Given the description of an element on the screen output the (x, y) to click on. 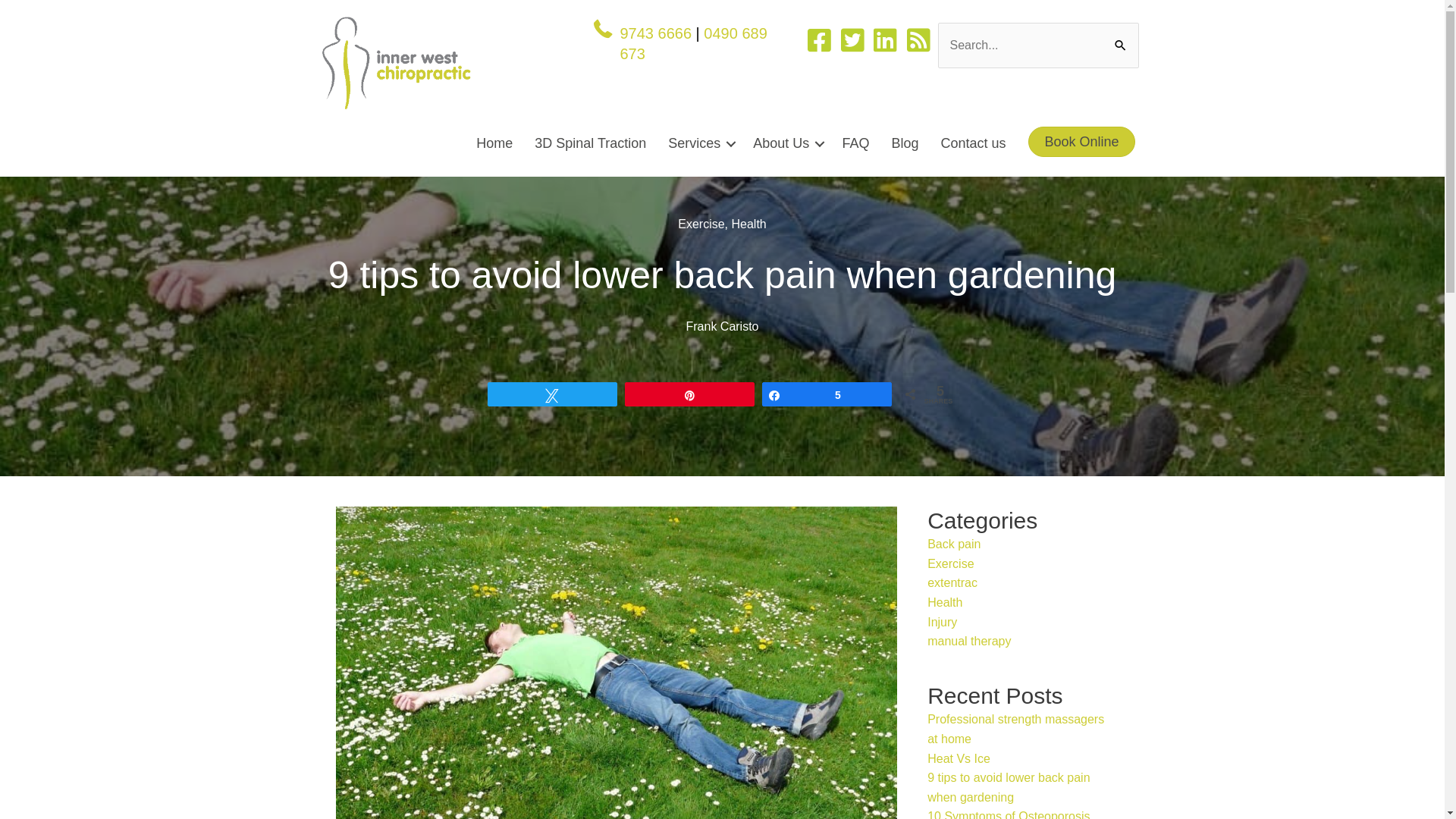
Injury Element type: text (942, 621)
Exercise Element type: text (700, 223)
Contact us Element type: text (972, 143)
Health Element type: text (748, 223)
Innerwest Chiropractic Element type: hover (395, 63)
Search Element type: text (1121, 43)
About Us Element type: text (786, 143)
extentrac Element type: text (952, 582)
Heat Vs Ice Element type: text (958, 758)
Health Element type: text (944, 602)
0490 689 673 Element type: text (692, 43)
9 tips to avoid lower back pain when gardening Element type: text (1008, 787)
Blog Element type: text (904, 143)
3D Spinal Traction Element type: text (590, 143)
5 Element type: text (826, 393)
manual therapy Element type: text (968, 640)
Frank Caristo Element type: text (721, 326)
Book Online Element type: text (1081, 141)
Exercise Element type: text (950, 563)
Back pain Element type: text (953, 543)
Professional strength massagers at home Element type: text (1015, 728)
9743 6666 Element type: text (655, 33)
FAQ Element type: text (855, 143)
Home Element type: text (494, 143)
Services Element type: text (699, 143)
